Given the description of an element on the screen output the (x, y) to click on. 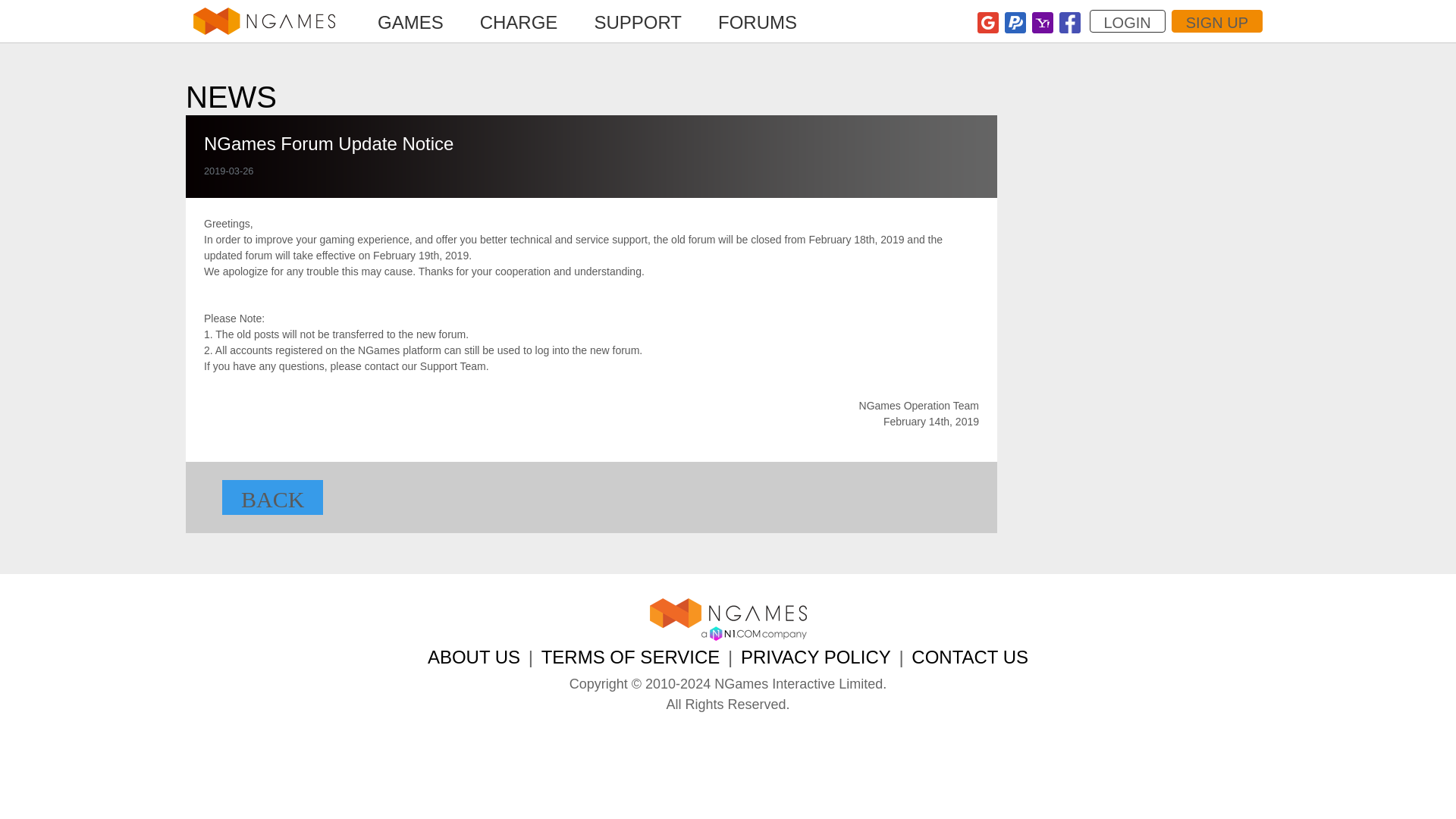
FORUMS (757, 22)
CONTACT US (969, 657)
SIGN UP (1217, 20)
LOGIN (1126, 20)
TERMS OF SERVICE (630, 657)
CHARGE (518, 22)
GAMES (410, 22)
ABOUT US (473, 657)
BACK (272, 497)
SUPPORT (637, 22)
